Given the description of an element on the screen output the (x, y) to click on. 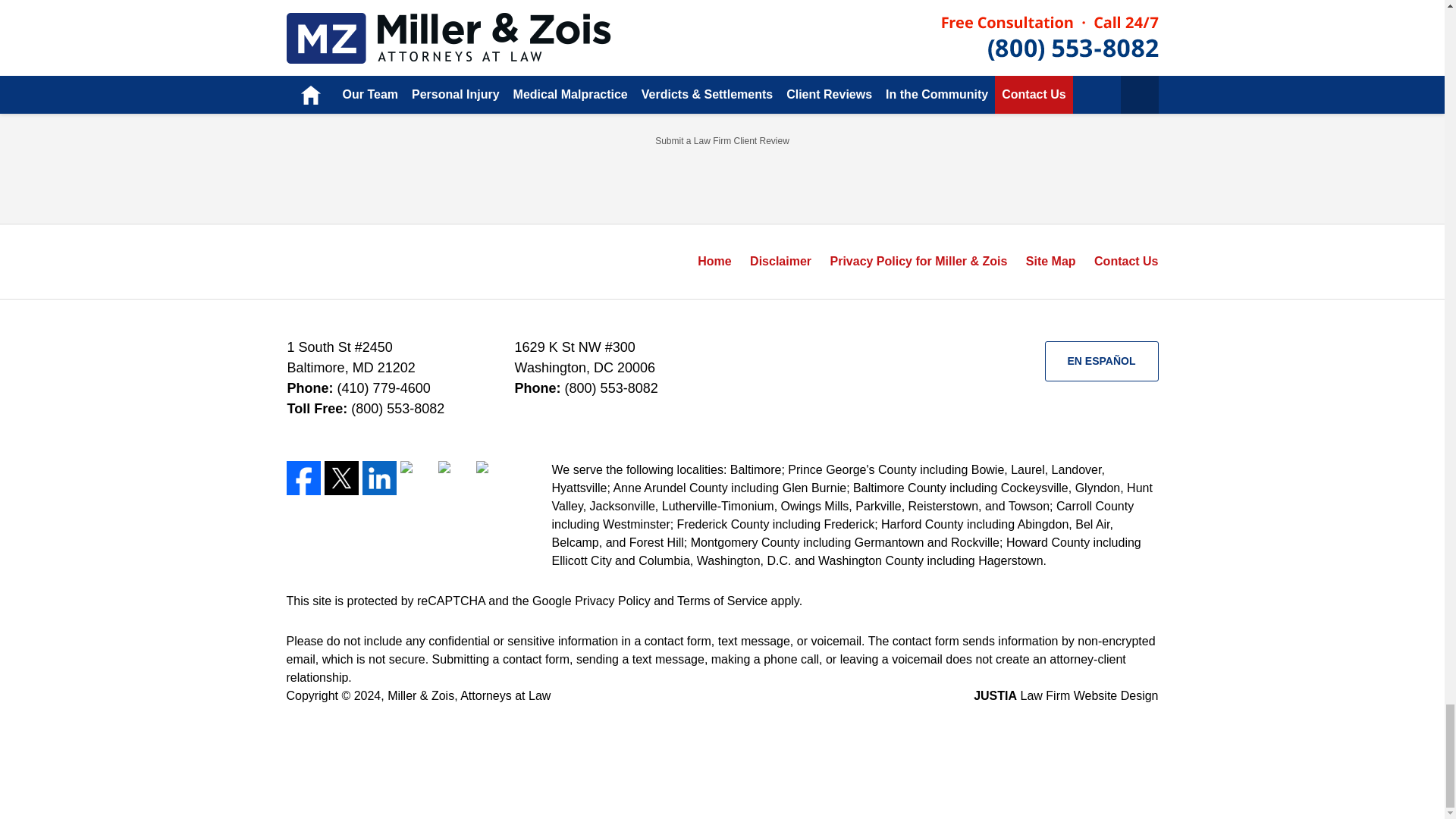
Twitter (341, 478)
Instagram (493, 478)
Justia (416, 478)
Facebook (303, 478)
YouTube (454, 478)
LinkedIn (379, 478)
